Given the description of an element on the screen output the (x, y) to click on. 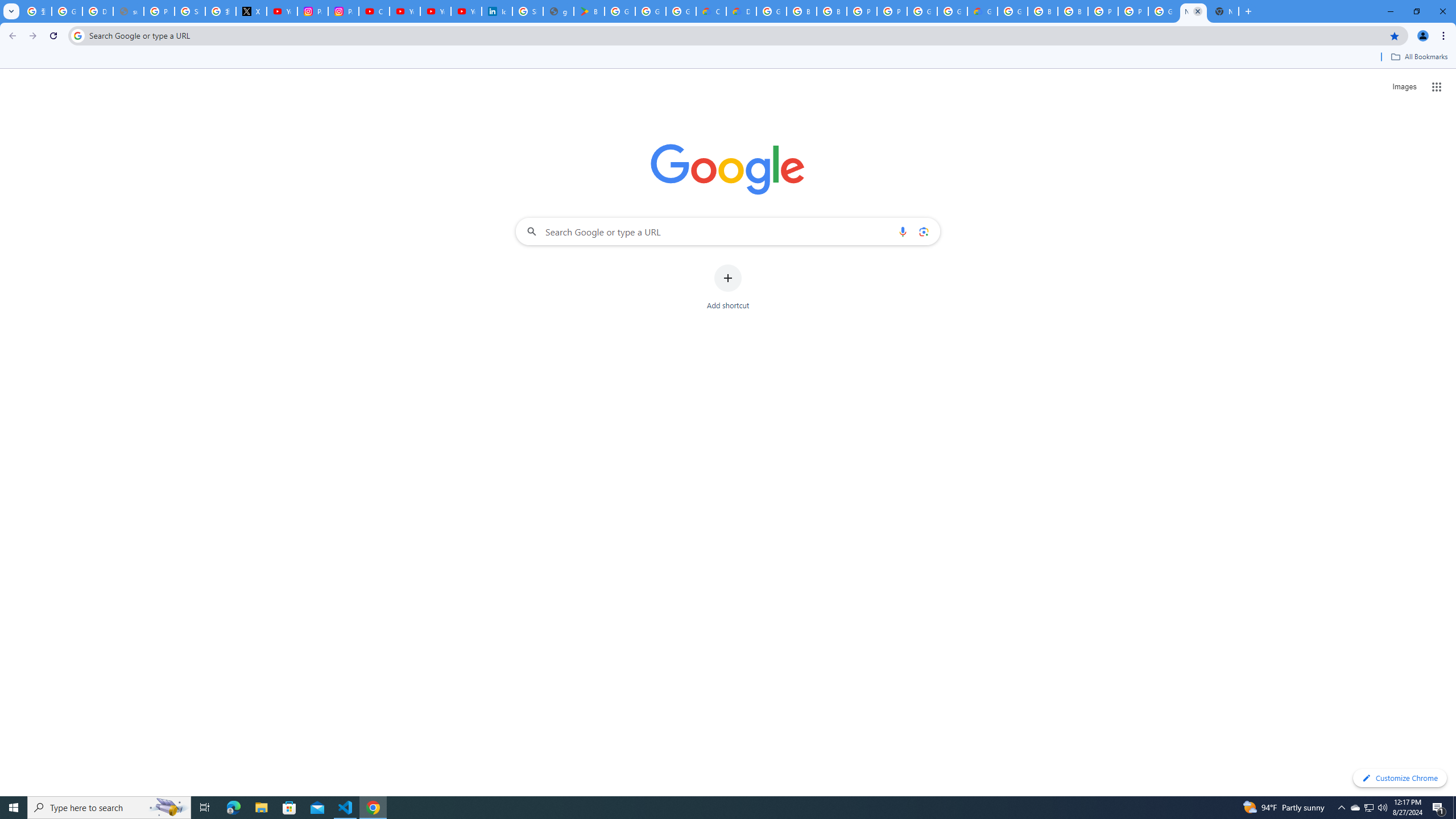
Add shortcut (727, 287)
Identity verification via Persona | LinkedIn Help (496, 11)
X (251, 11)
Search for Images  (1403, 87)
Bluey: Let's Play! - Apps on Google Play (589, 11)
Privacy Help Center - Policies Help (158, 11)
Google Cloud Platform (1012, 11)
support.google.com - Network error (127, 11)
Sign in - Google Accounts (527, 11)
Search by voice (902, 230)
